Given the description of an element on the screen output the (x, y) to click on. 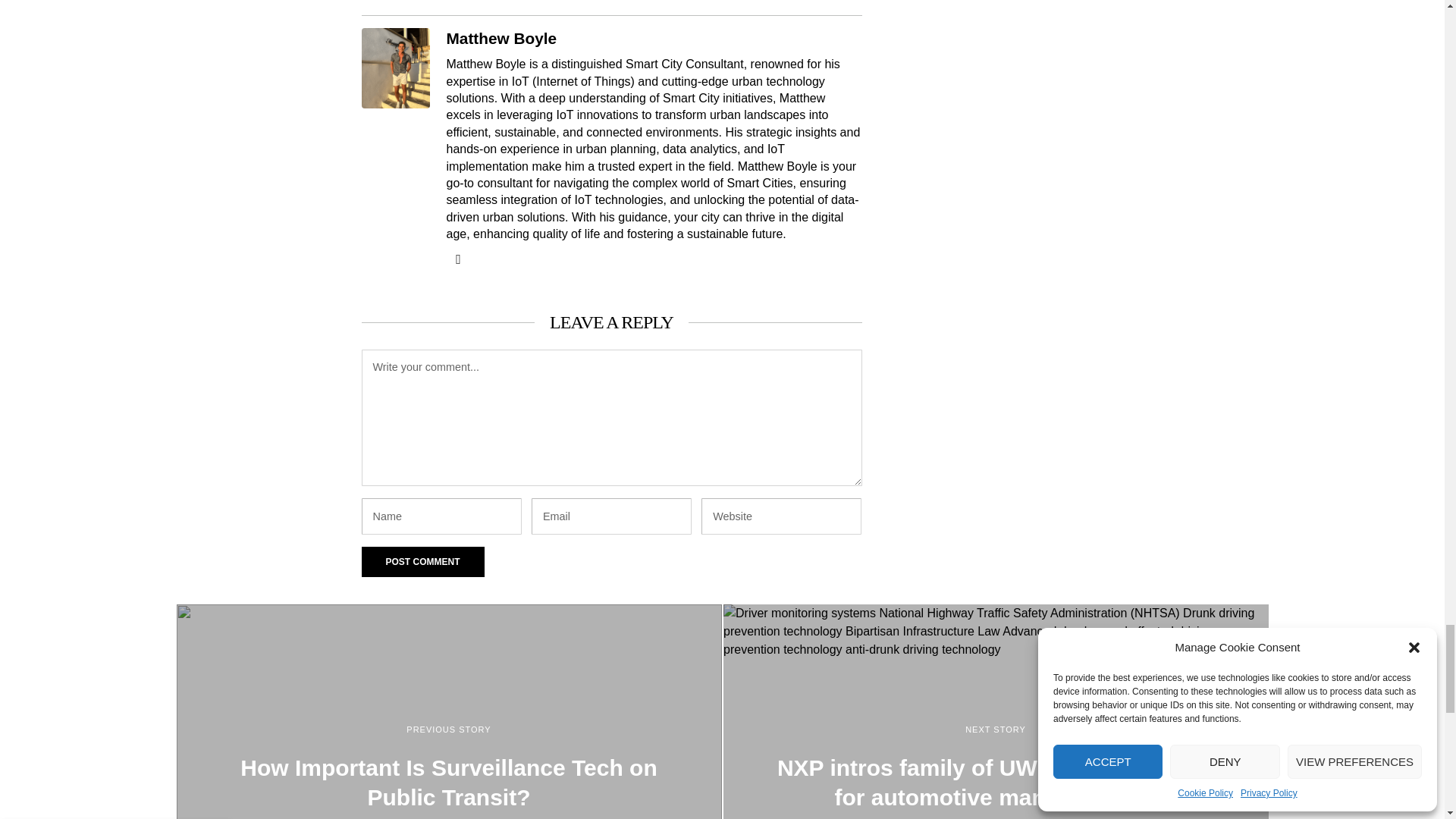
Post Comment (422, 562)
